Given the description of an element on the screen output the (x, y) to click on. 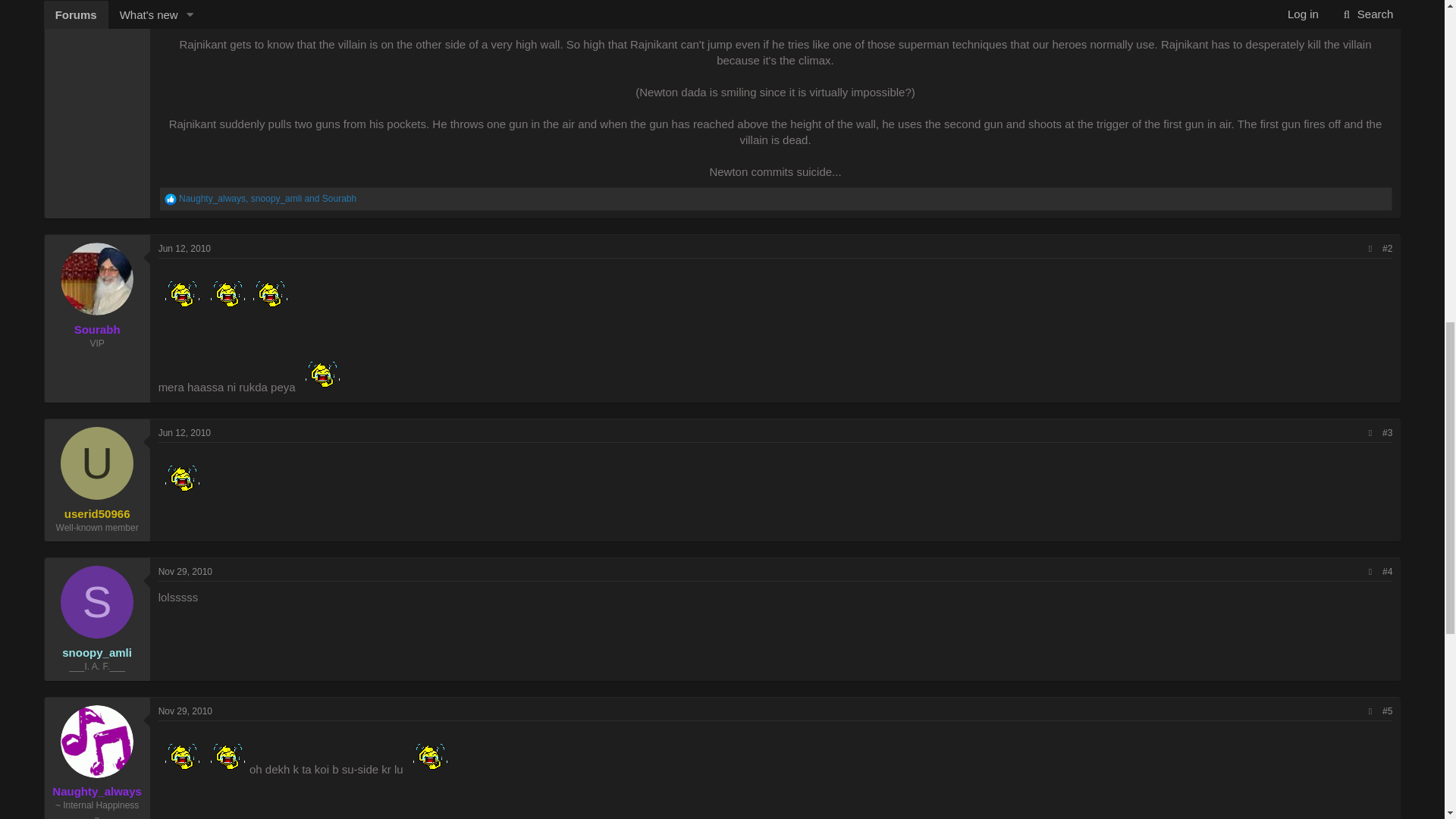
Jun 12, 2010 (184, 432)
U (97, 462)
LOL2    :lol2 (179, 289)
LOL2    :lol2 (267, 289)
userid50966 (97, 513)
Like (170, 199)
Sourabh (97, 328)
LOL2    :lol2 (319, 369)
Jun 12, 2010 at 8:24 PM (184, 432)
Jun 12, 2010 at 11:57 AM (184, 248)
LOL2    :lol2 (224, 289)
Jun 12, 2010 (184, 248)
